Given the description of an element on the screen output the (x, y) to click on. 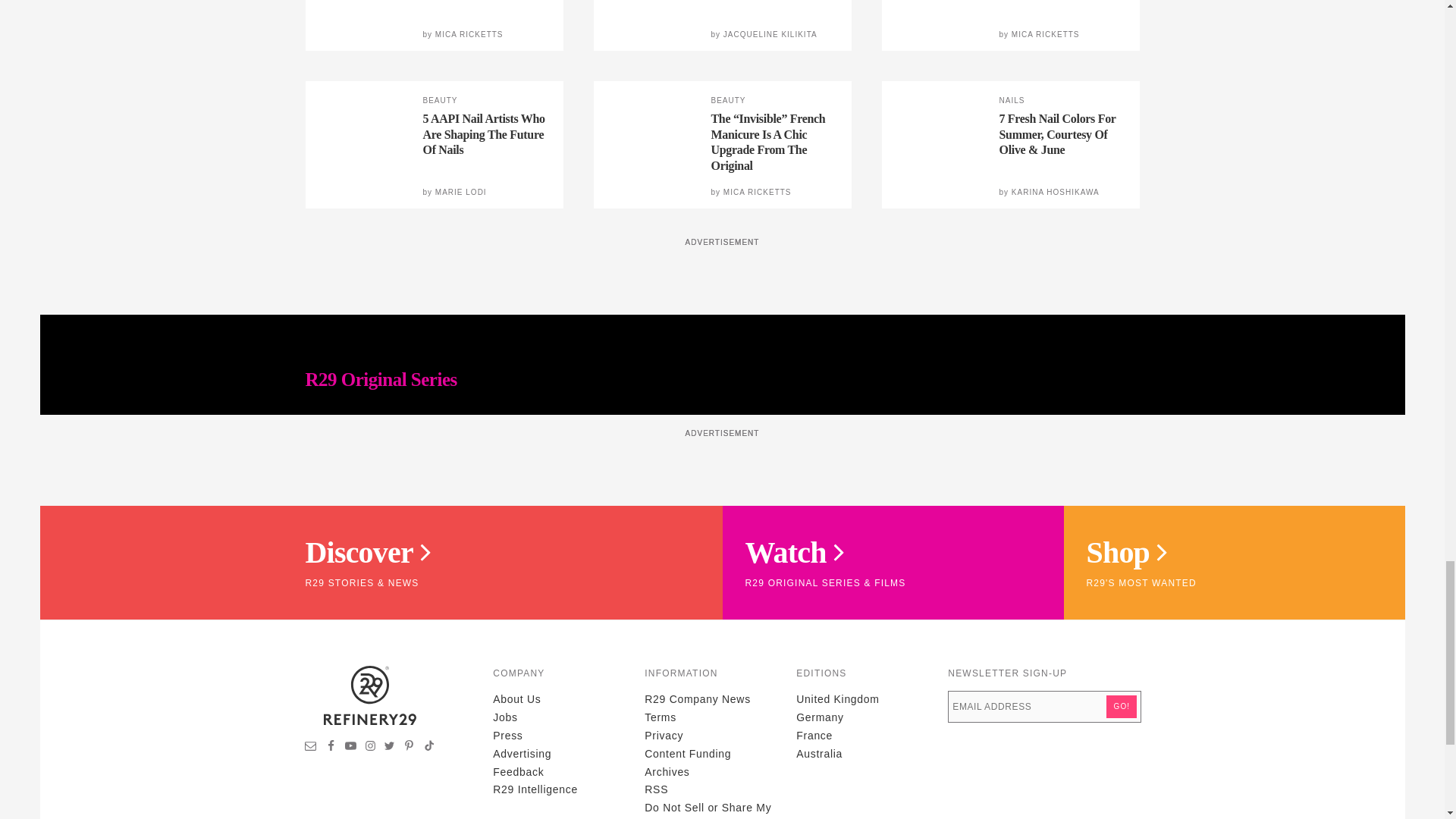
Visit Refinery29 on YouTube (350, 747)
Sign up for newsletters (310, 747)
Visit Refinery29 on TikTok (428, 747)
